Given the description of an element on the screen output the (x, y) to click on. 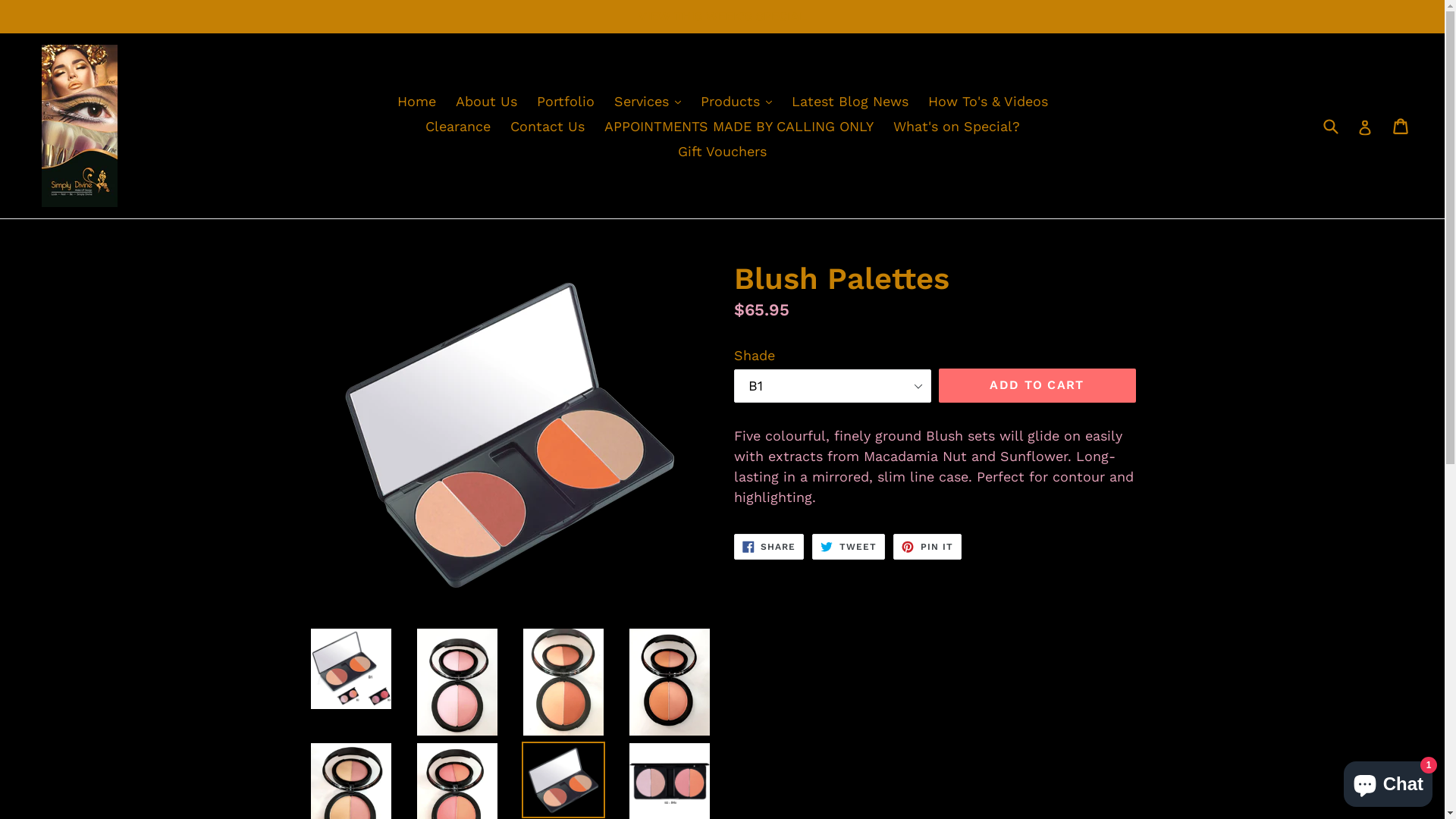
Submit Element type: text (1329, 125)
Contact Us Element type: text (546, 125)
How To's & Videos Element type: text (987, 99)
VIEW THIS WEEK'S SPECIAL Element type: text (722, 16)
About Us Element type: text (485, 99)
Latest Blog News Element type: text (850, 99)
Home Element type: text (416, 99)
Shopify online store chat Element type: hover (1388, 780)
Portfolio Element type: text (565, 99)
APPOINTMENTS MADE BY CALLING ONLY Element type: text (738, 125)
Clearance Element type: text (457, 125)
PIN IT
PIN ON PINTEREST Element type: text (927, 546)
ADD TO CART Element type: text (1036, 384)
Gift Vouchers Element type: text (722, 150)
SHARE
SHARE ON FACEBOOK Element type: text (769, 546)
What's on Special? Element type: text (956, 125)
Cart
Cart Element type: text (1401, 126)
TWEET
TWEET ON TWITTER Element type: text (848, 546)
Log in Element type: text (1364, 125)
